Given the description of an element on the screen output the (x, y) to click on. 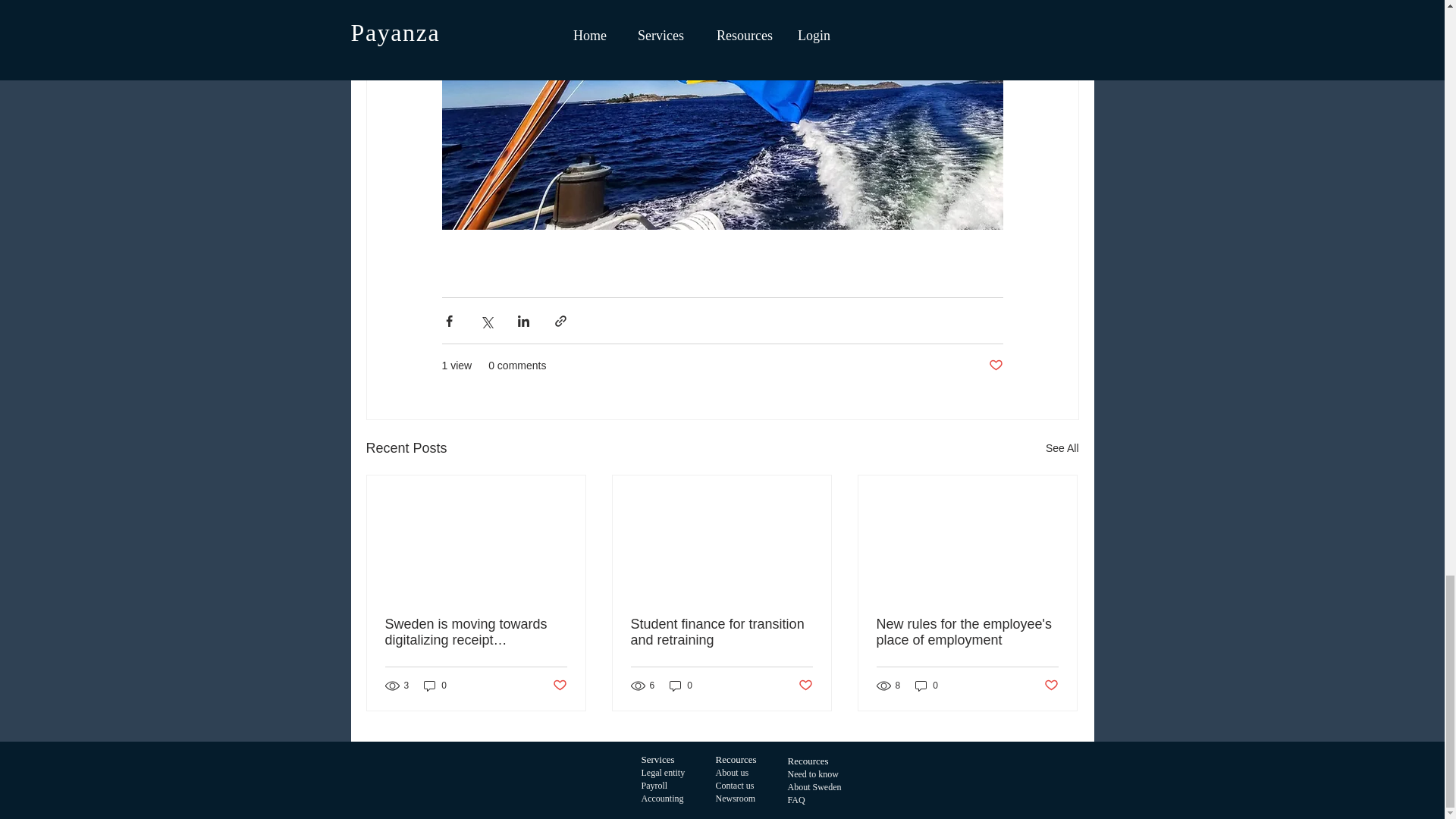
Post not marked as liked (558, 685)
Student finance for transition and retraining (721, 632)
Post not marked as liked (1050, 685)
Legal entity (663, 772)
See All (1061, 448)
Sweden is moving towards digitalizing receipt management. (476, 632)
Accounting (663, 798)
New rules for the employee's place of employment (967, 632)
0 (926, 685)
Payroll (655, 785)
